Given the description of an element on the screen output the (x, y) to click on. 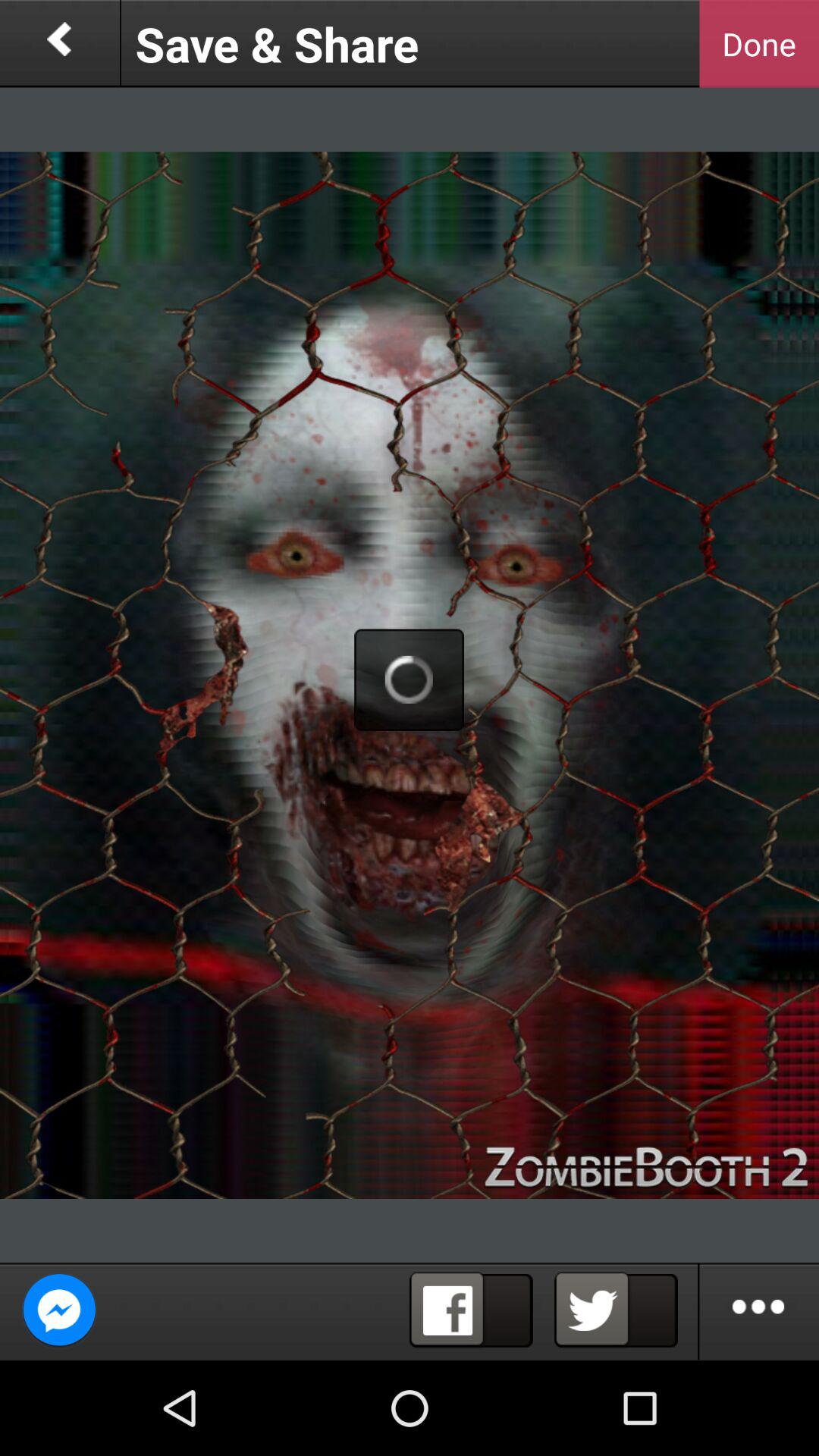
acessar options (759, 1310)
